Given the description of an element on the screen output the (x, y) to click on. 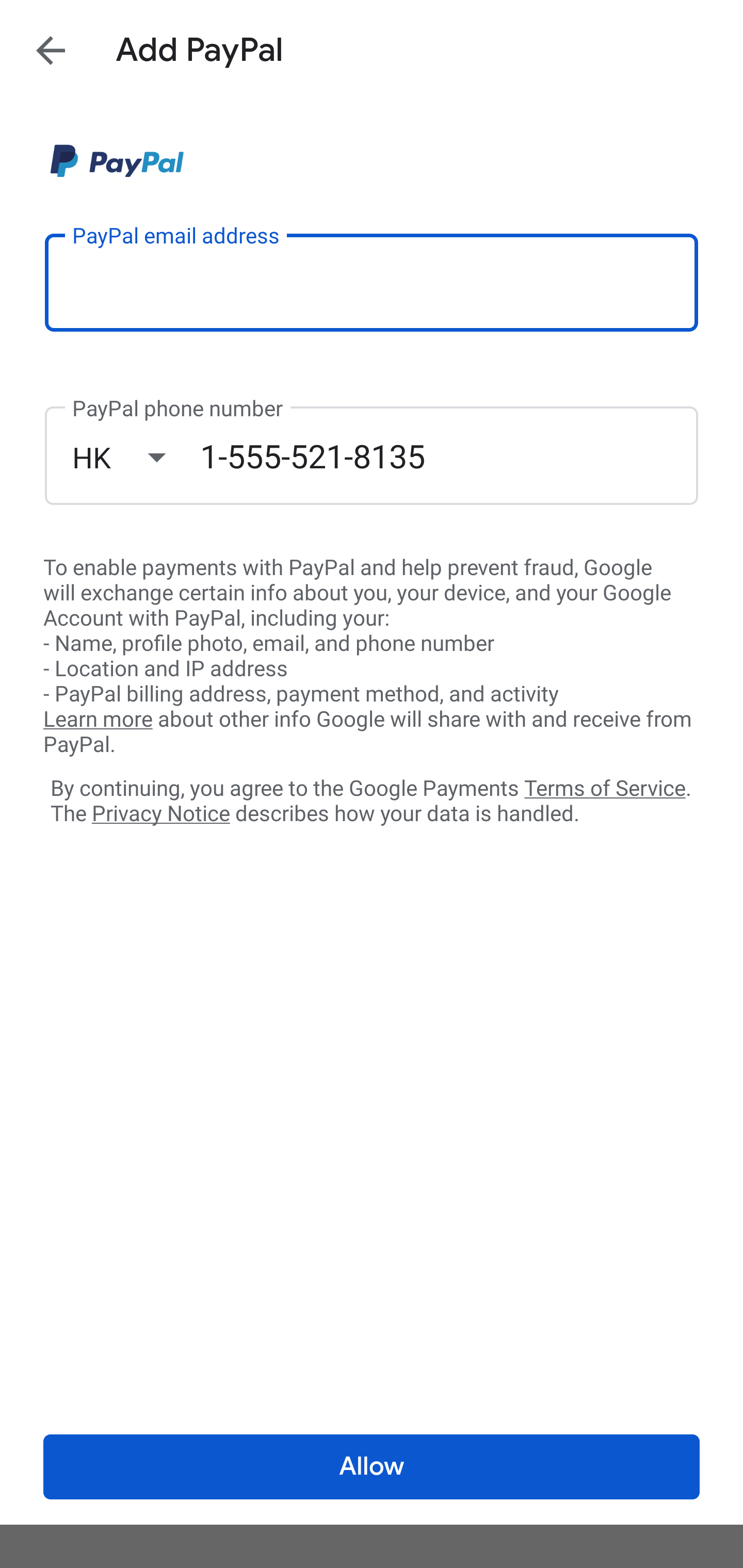
Navigate up (50, 50)
PayPal email address (371, 282)
HK (135, 456)
Learn more (97, 719)
Terms of Service (604, 787)
Privacy Notice (160, 814)
Allow (371, 1466)
